Given the description of an element on the screen output the (x, y) to click on. 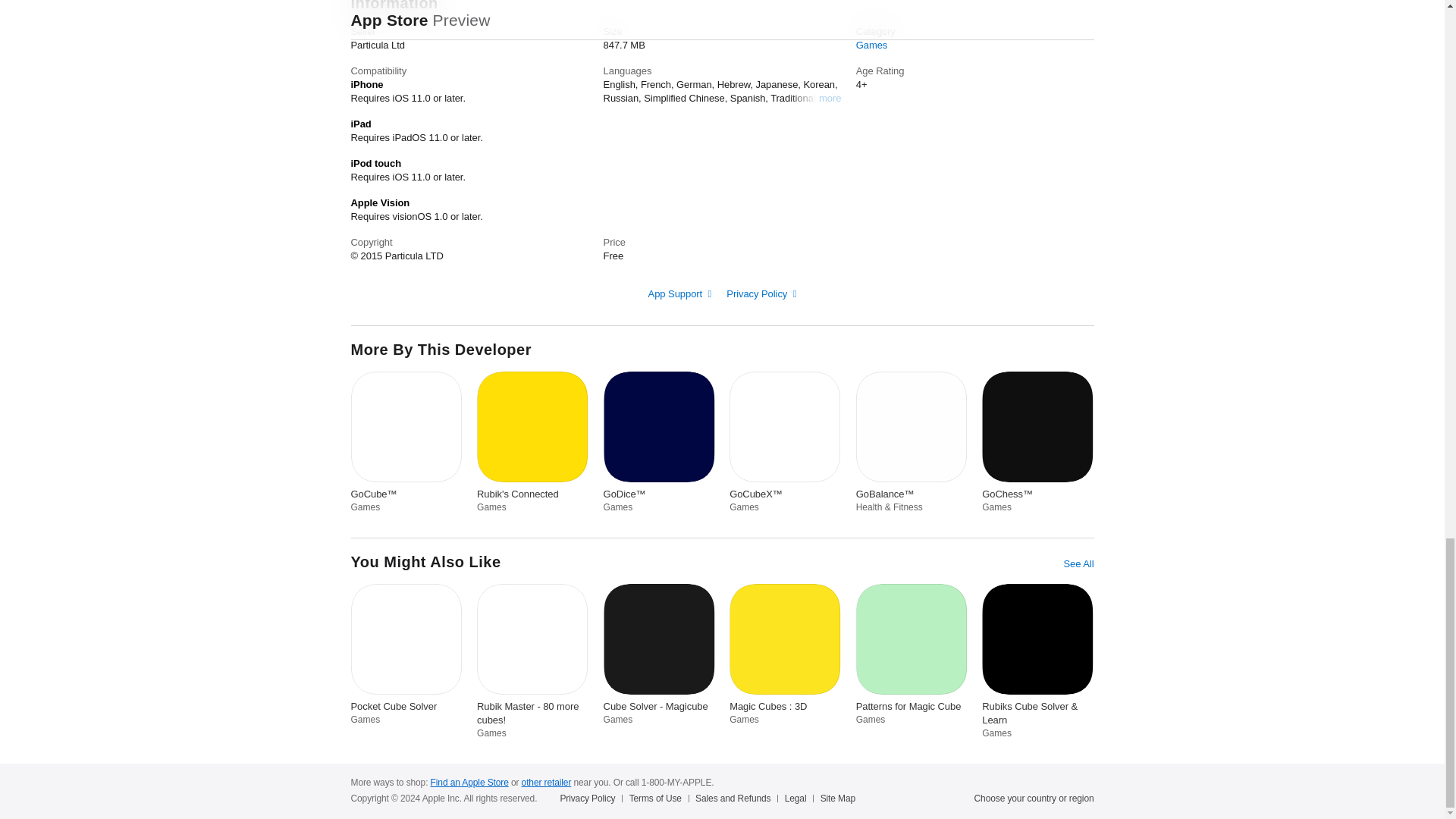
more (829, 97)
Choose your country or region (1034, 797)
Privacy Policy (761, 293)
Games (872, 44)
App Support (679, 293)
